Given the description of an element on the screen output the (x, y) to click on. 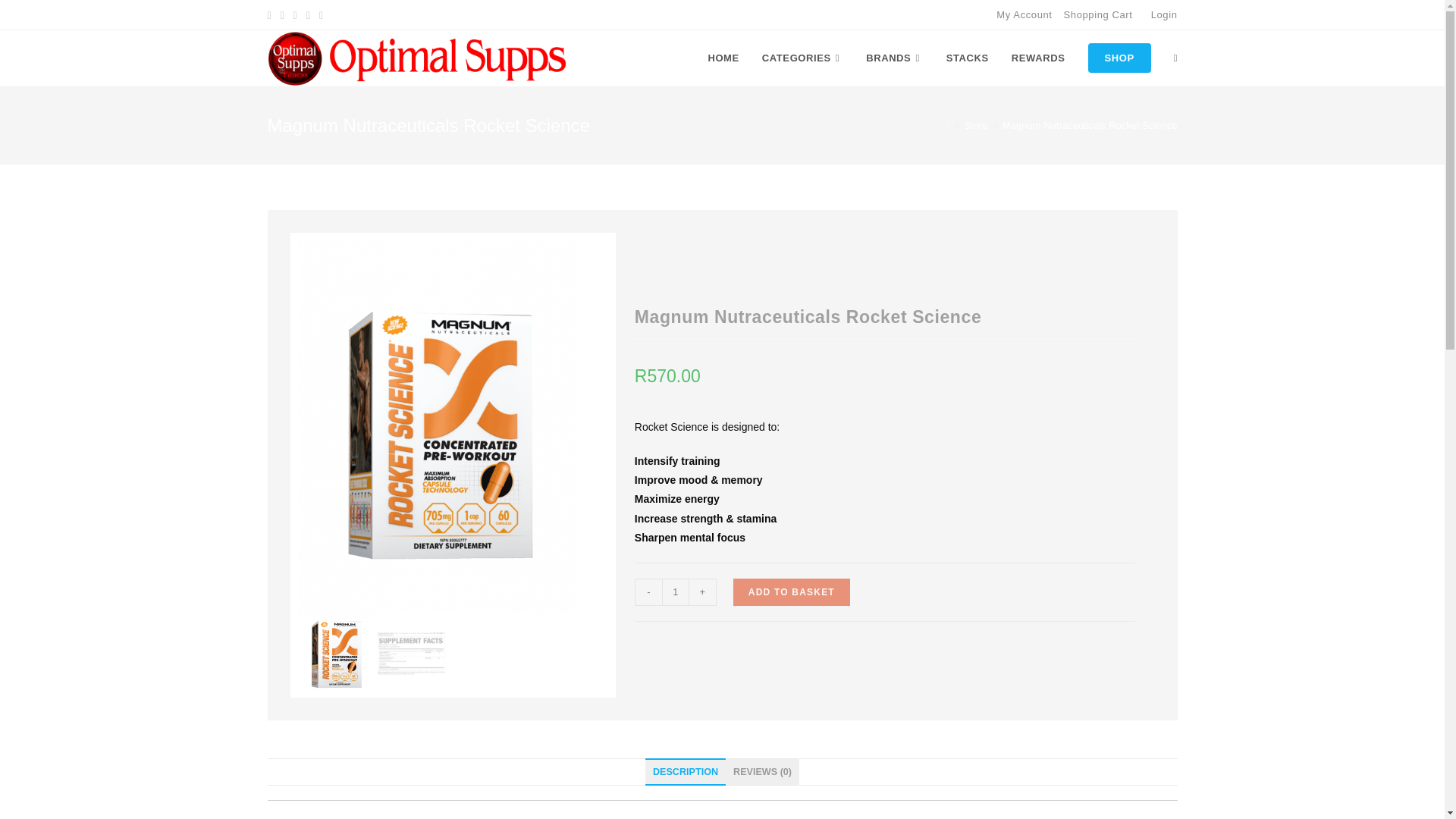
Login (1164, 14)
SHOP (1119, 58)
My Account (1023, 14)
Shopping Cart (1098, 14)
HOME (722, 58)
STACKS (967, 58)
BRANDS (894, 58)
REWARDS (1038, 58)
1 (675, 592)
CATEGORIES (802, 58)
